Given the description of an element on the screen output the (x, y) to click on. 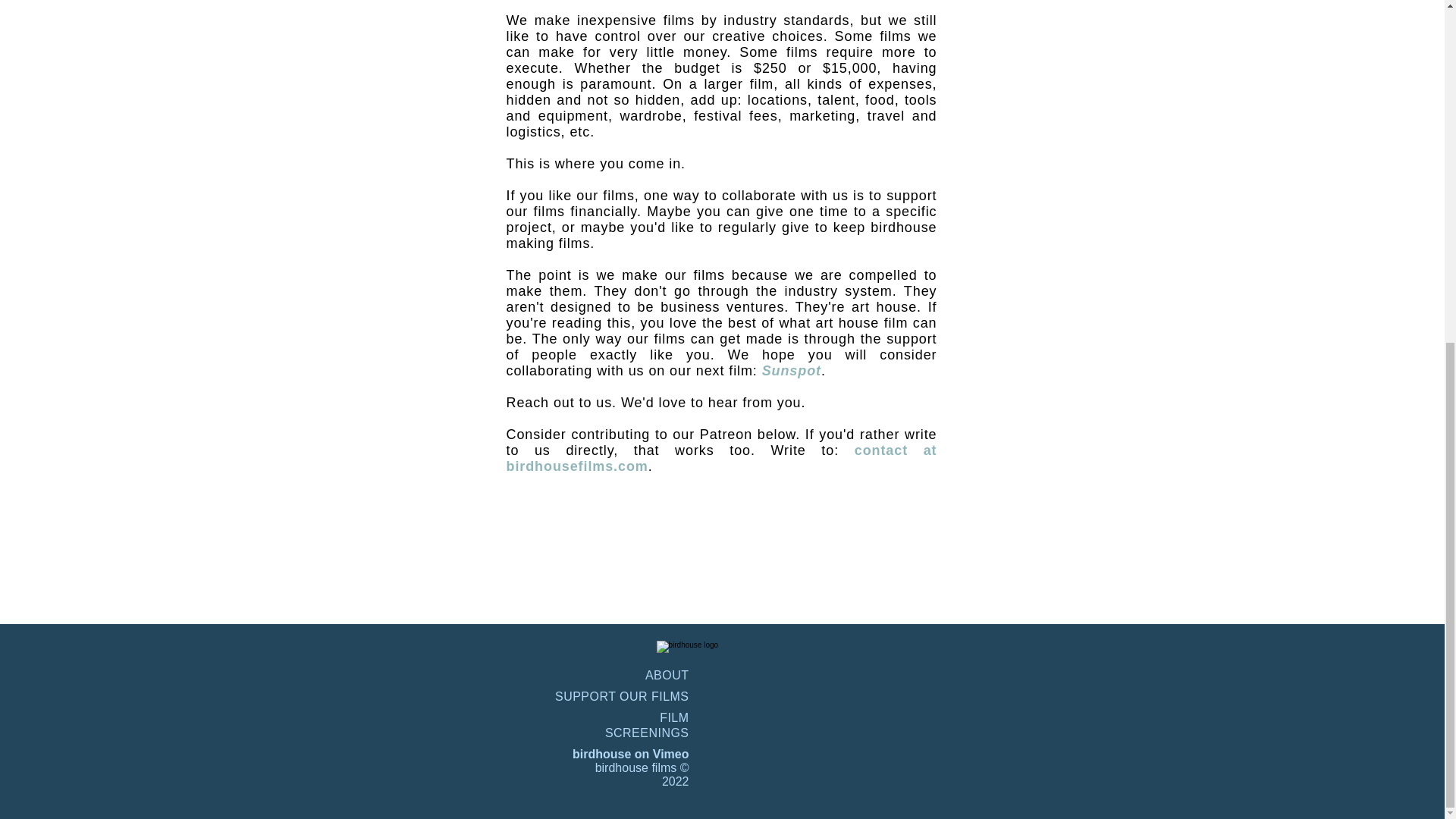
birdhouse on Vimeo (630, 753)
Sunspot (791, 370)
contact at birdhousefilms.com (721, 458)
SUPPORT OUR FILMS (621, 696)
FILM SCREENINGS (646, 725)
ABOUT (666, 675)
